Given the description of an element on the screen output the (x, y) to click on. 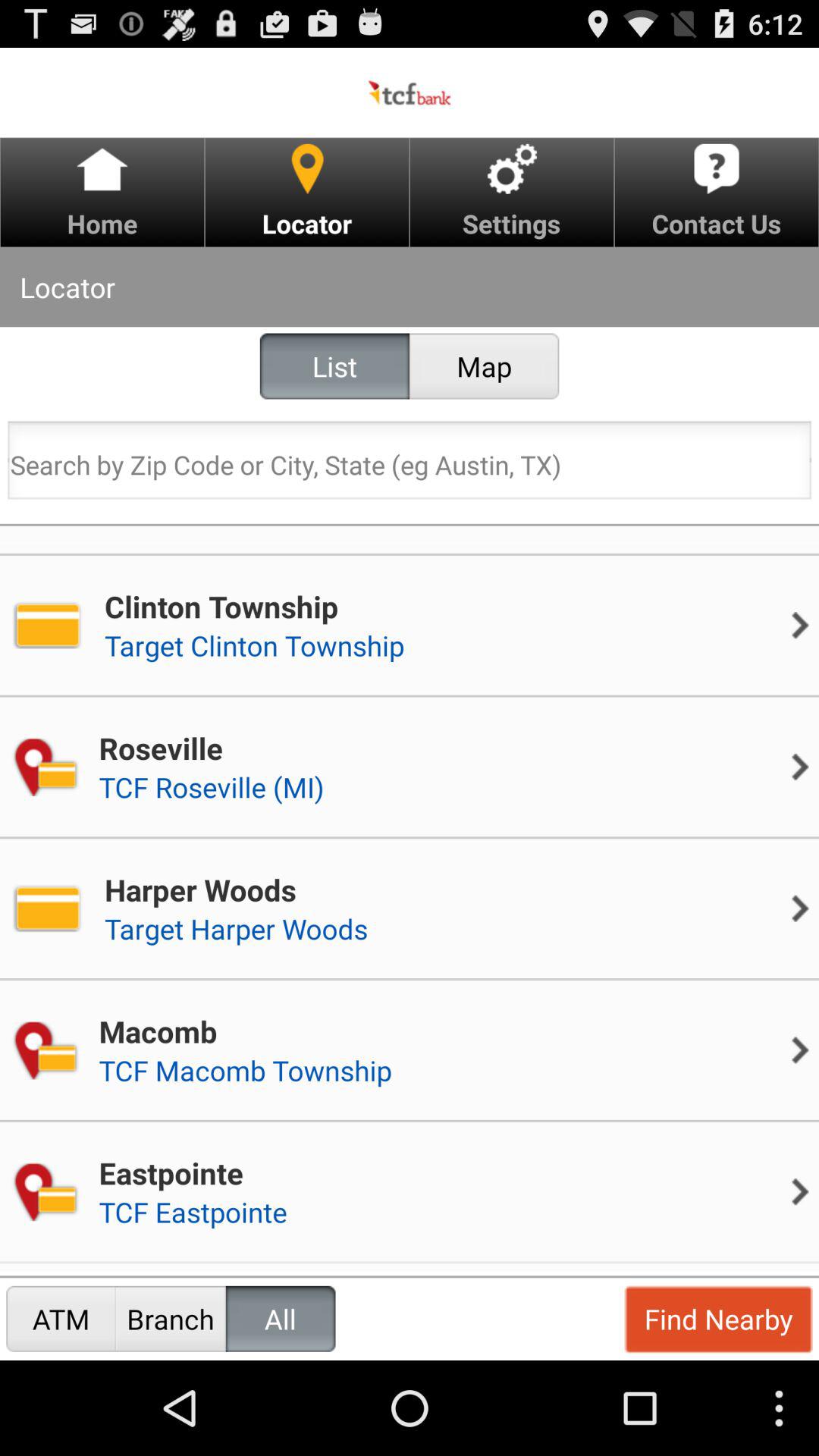
select the item next to atm radio button (170, 1318)
